Given the description of an element on the screen output the (x, y) to click on. 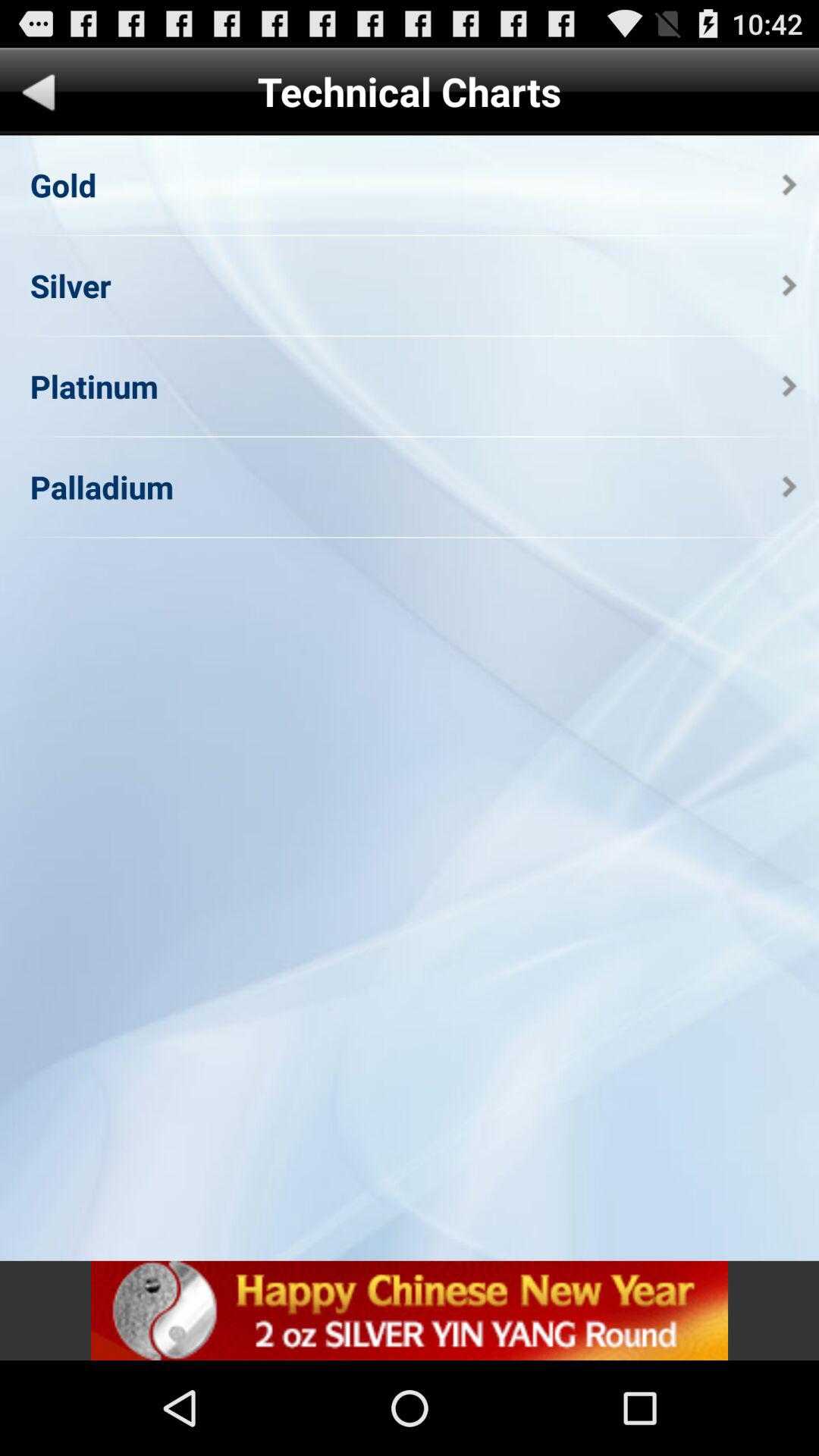
go back (39, 95)
